Given the description of an element on the screen output the (x, y) to click on. 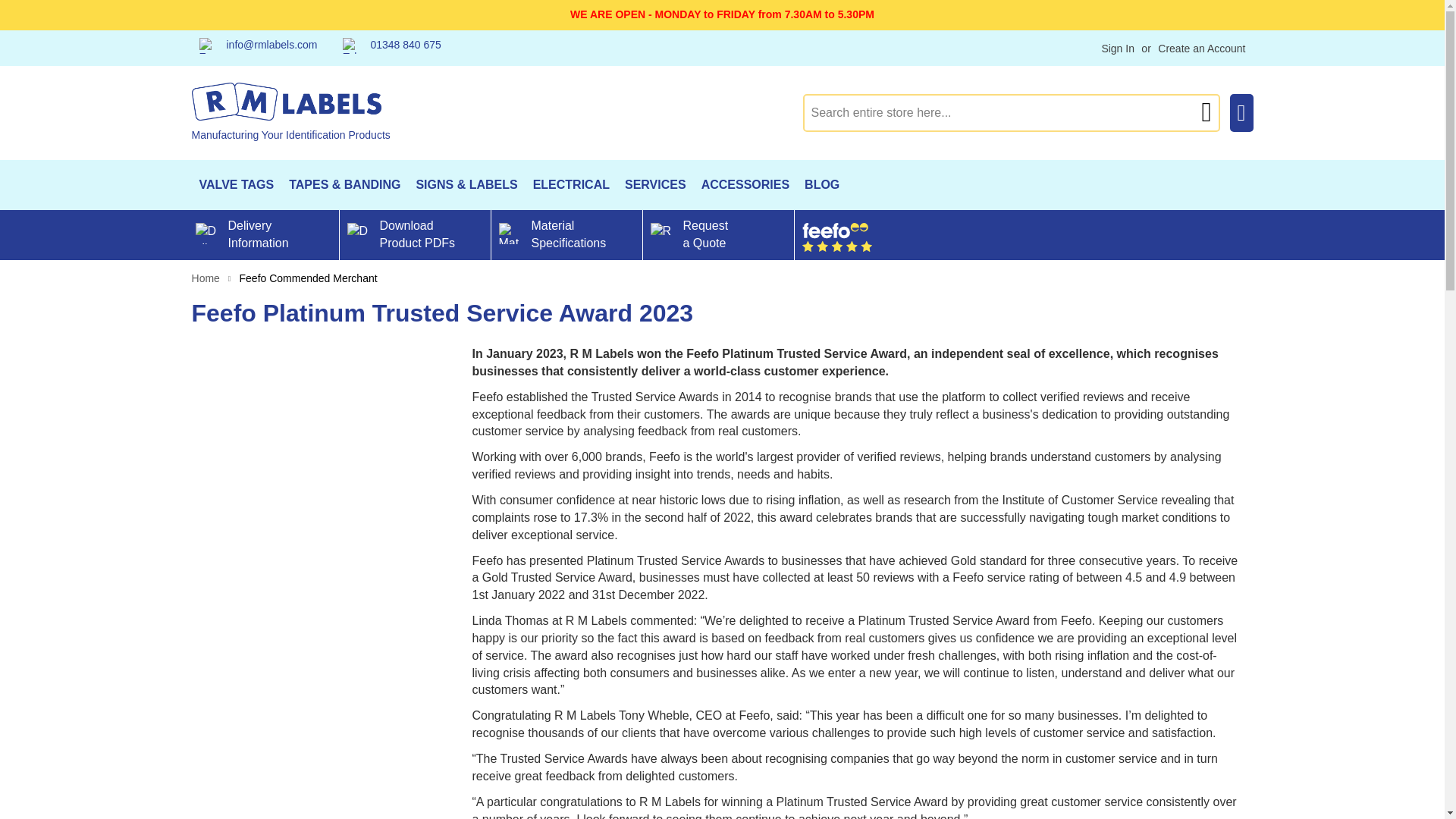
Create an Account (1200, 48)
VALVE TAGS (235, 184)
RM Labels (290, 111)
Go to Home Page (204, 278)
RM Labels (285, 101)
01348 840 675 (391, 45)
Sign In (1117, 48)
